Given the description of an element on the screen output the (x, y) to click on. 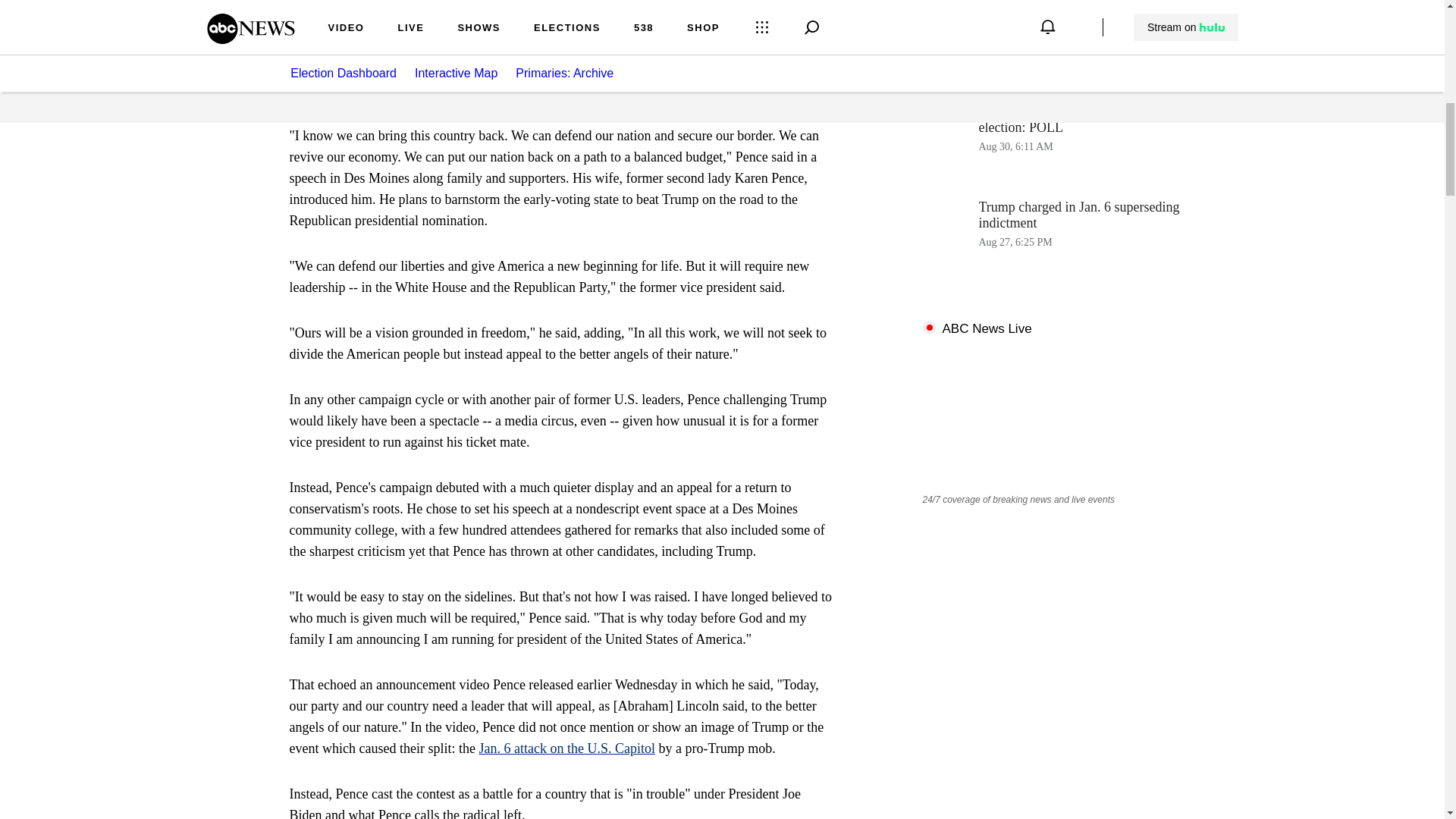
Jan. 6 attack on the U.S. Capitol (566, 748)
